Given the description of an element on the screen output the (x, y) to click on. 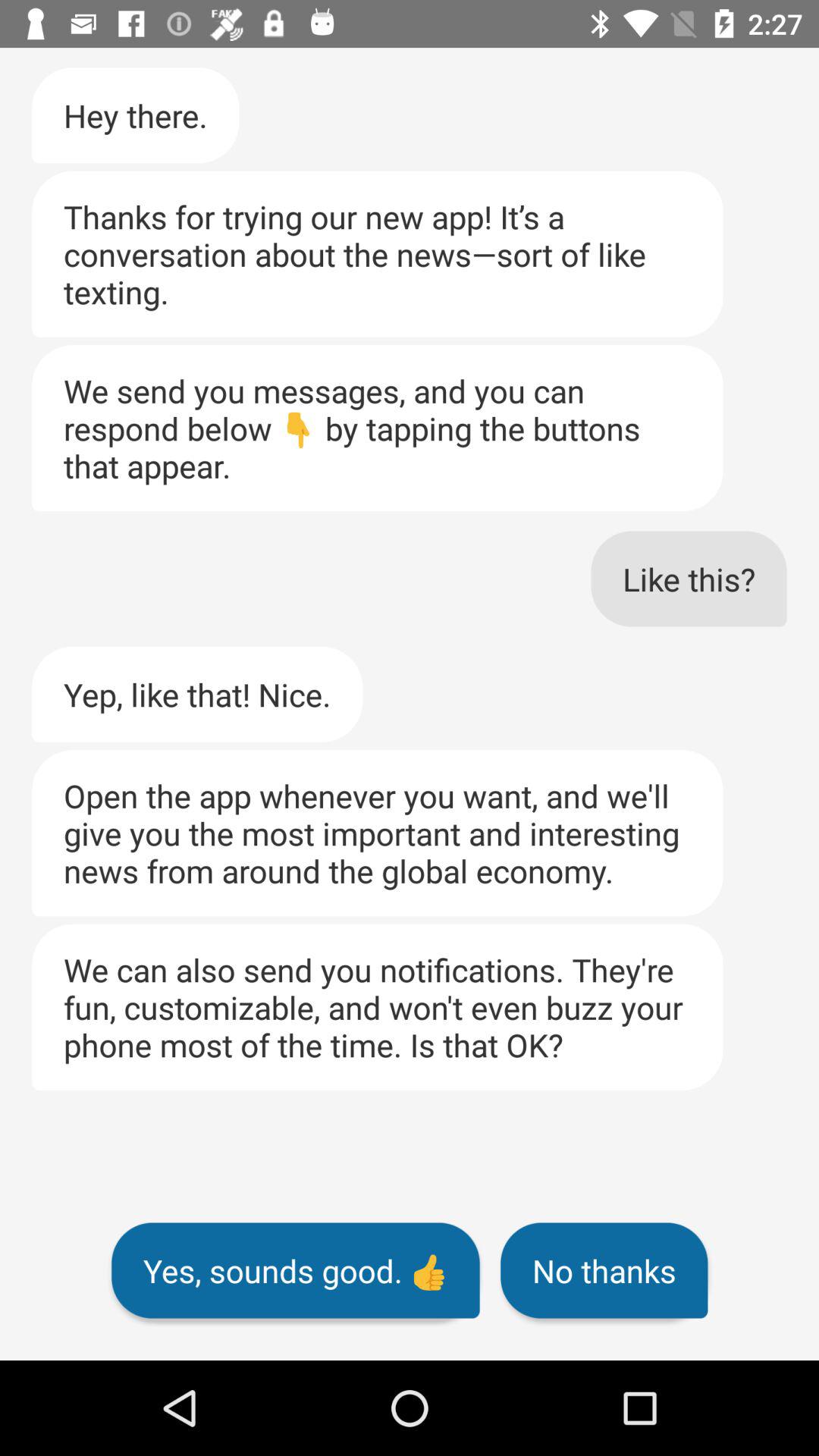
click the no thanks at the bottom right corner (604, 1270)
